Given the description of an element on the screen output the (x, y) to click on. 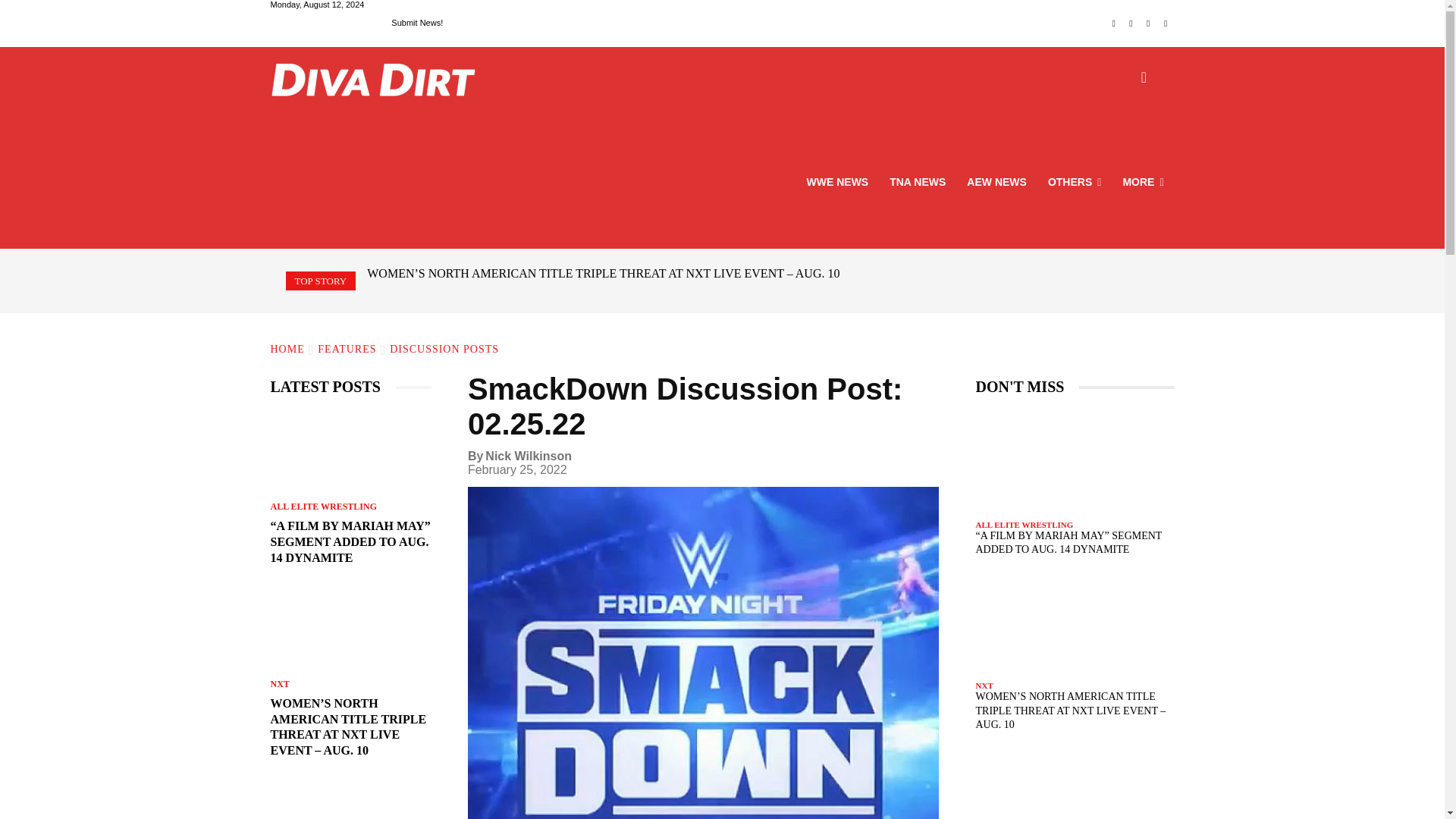
Facebook (1113, 23)
Instagram (1131, 23)
View all posts in Features (346, 348)
Twitter (1148, 23)
View all posts in Discussion Posts (444, 348)
Youtube (1165, 23)
